Given the description of an element on the screen output the (x, y) to click on. 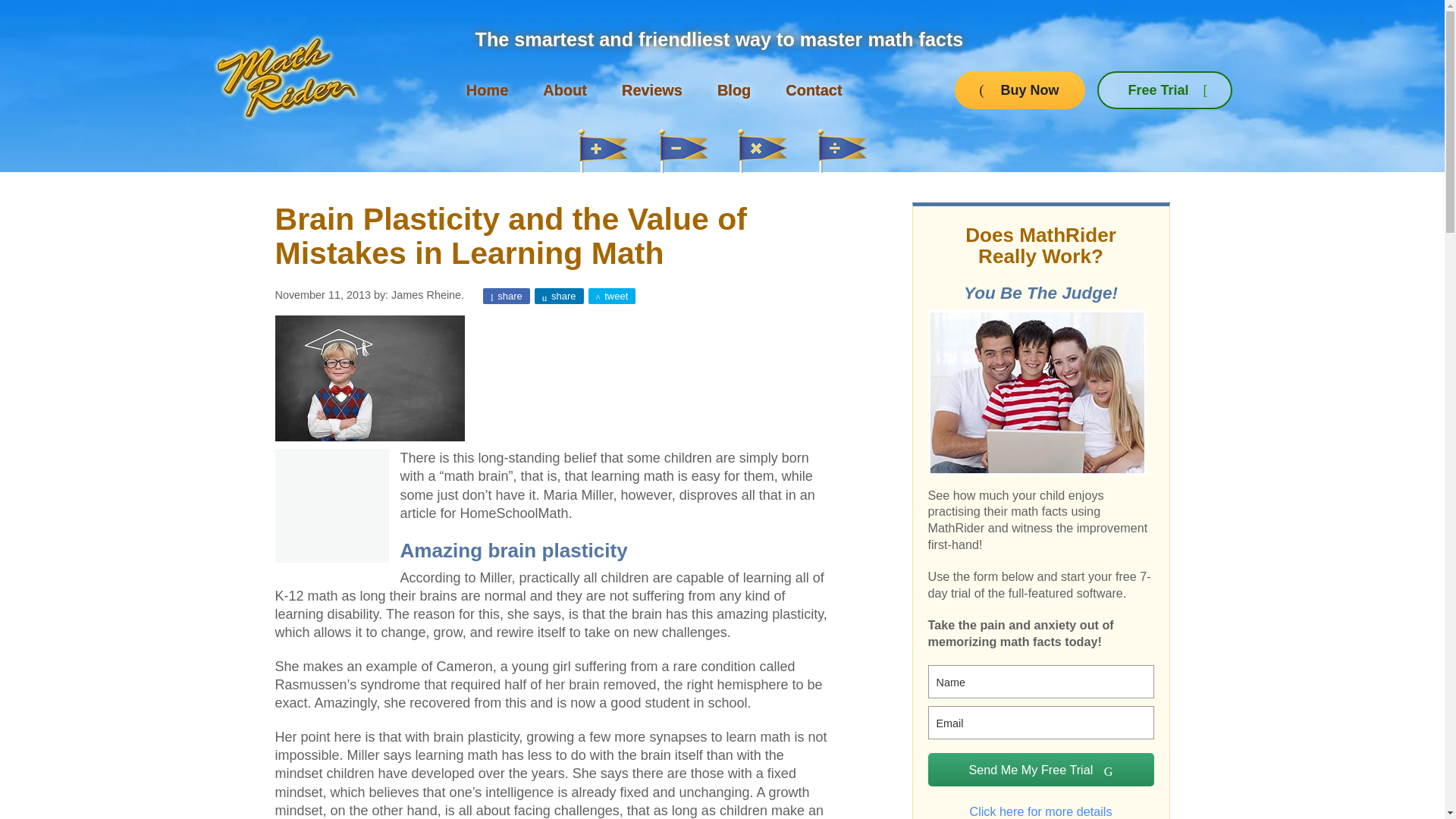
About (564, 90)
Reviews (652, 90)
Blog (734, 90)
Send Me My Free Trial (1041, 769)
Share on LinkedIn (558, 295)
Home (486, 90)
share (506, 295)
Buy Now (1019, 89)
tweet (612, 295)
share (558, 295)
Free Trial (1164, 89)
Click here for more details (1041, 805)
Contact (813, 90)
Tweet this post (612, 295)
Share on Facebook (506, 295)
